Given the description of an element on the screen output the (x, y) to click on. 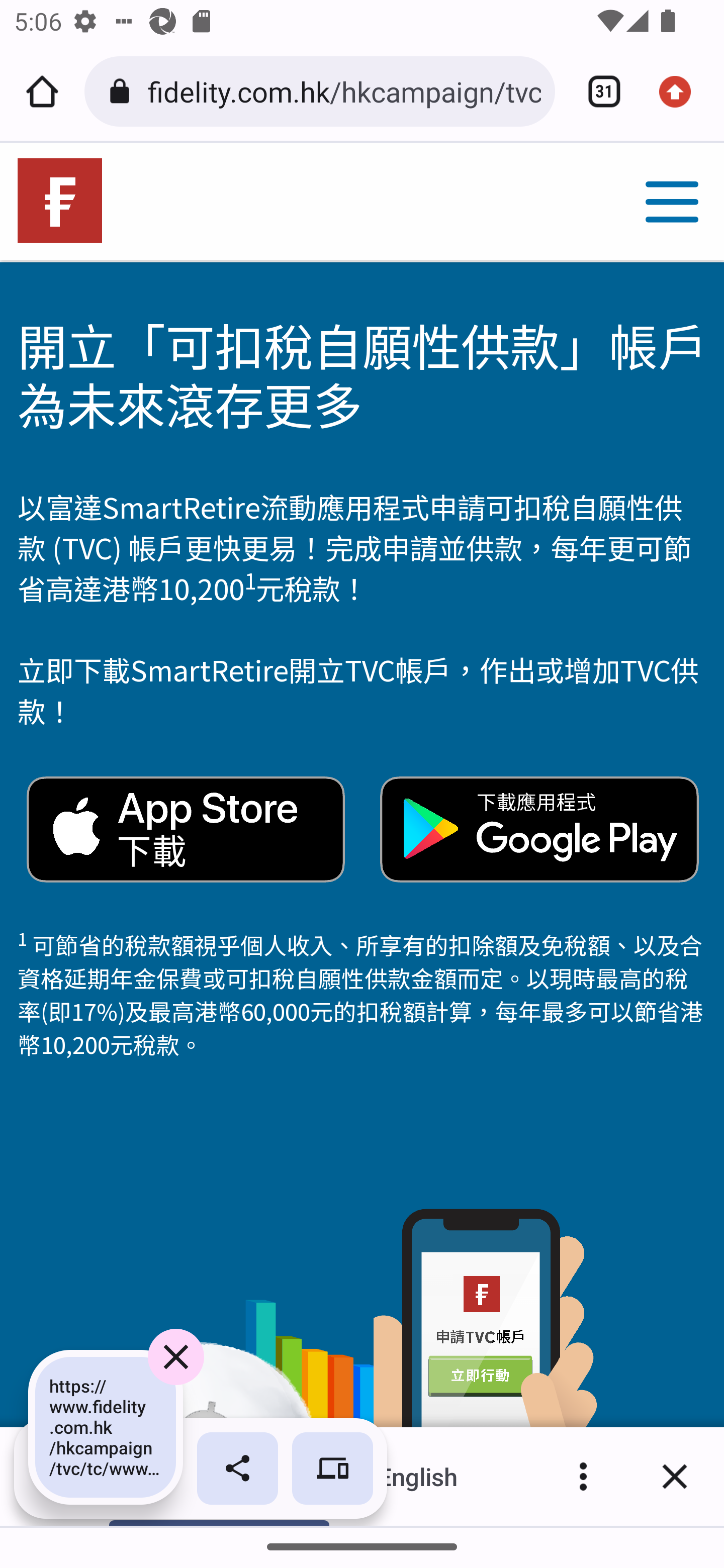
Home (42, 91)
Connection is secure (122, 91)
Switch or close tabs (597, 91)
Update available. More options (681, 91)
Logo (60, 201)
javascript:;  (671, 200)
googleplay-zh (540, 829)
More options (582, 1475)
Close (674, 1475)
